Given the description of an element on the screen output the (x, y) to click on. 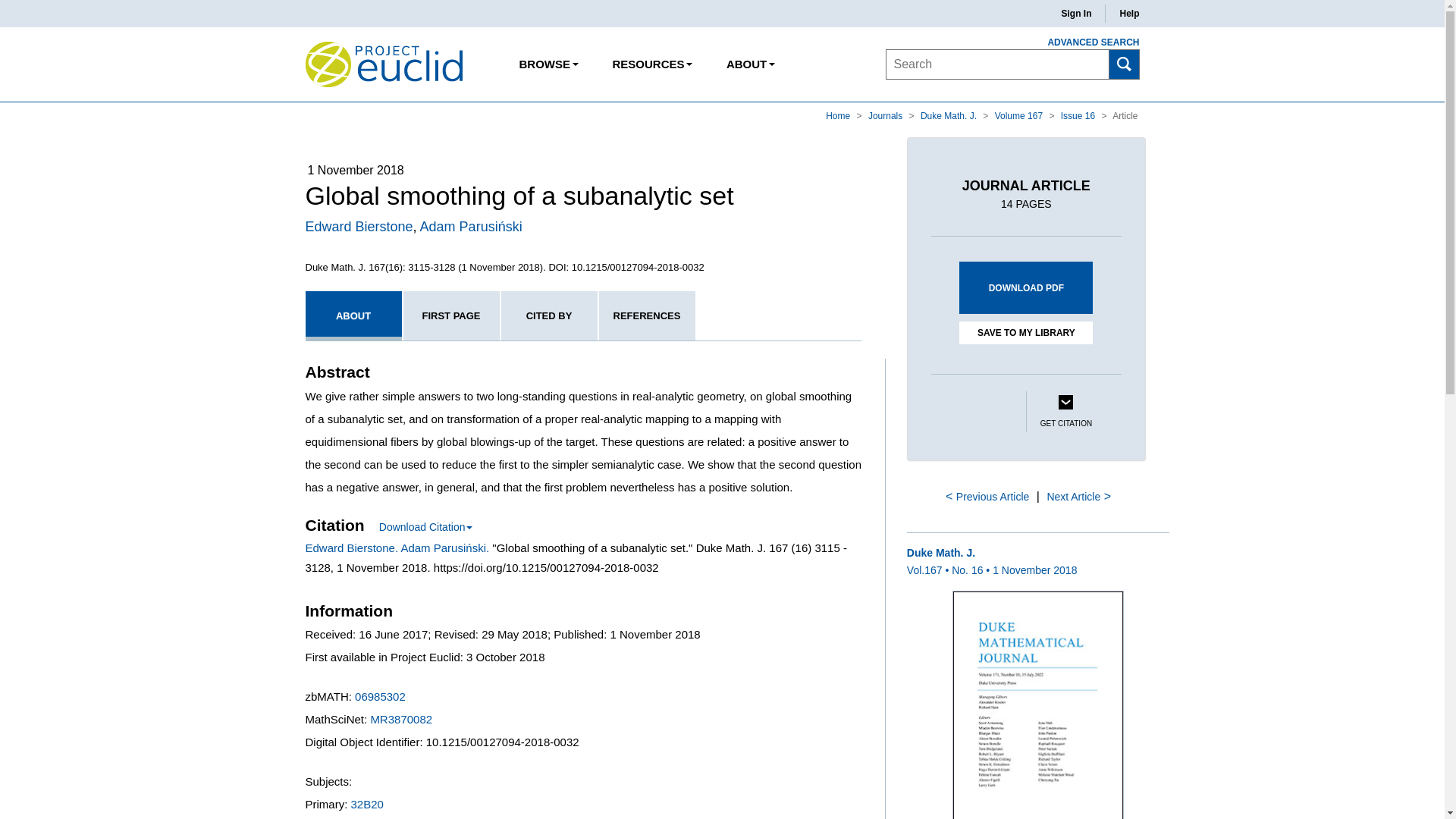
ADVANCED SEARCH (1084, 42)
FIRST PAGE (451, 315)
Subscriptions and Access (651, 64)
Home (838, 115)
Issue 16 (1079, 115)
Duke Math. J. (949, 115)
About (750, 64)
RESOURCES (651, 64)
BROWSE (549, 64)
Journals (886, 115)
Duke Math. J. (949, 115)
ABOUT (750, 64)
Volume 167 (1019, 115)
Home (838, 115)
Sign In (1075, 13)
